Given the description of an element on the screen output the (x, y) to click on. 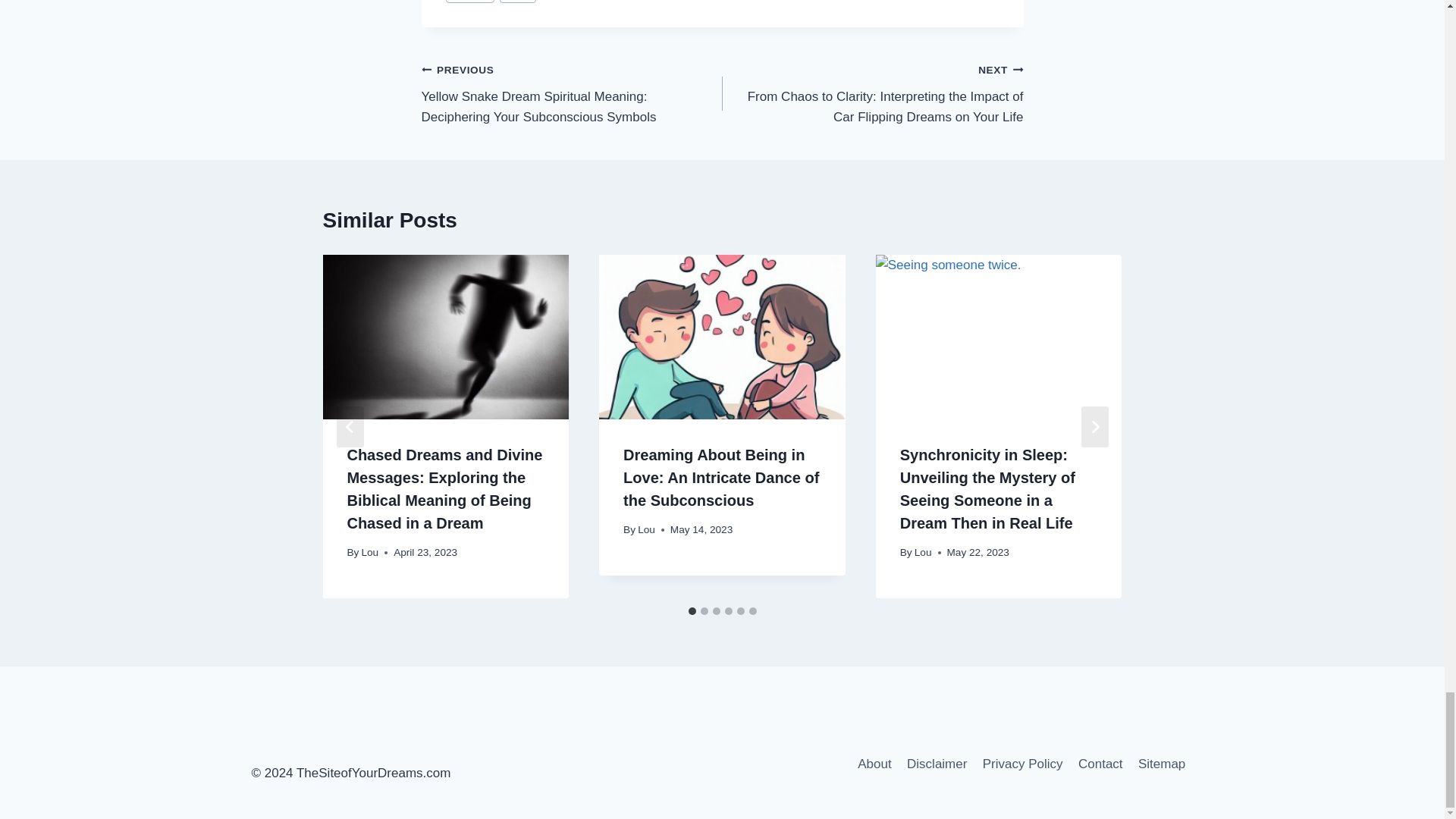
dream (470, 1)
gun (518, 1)
